Given the description of an element on the screen output the (x, y) to click on. 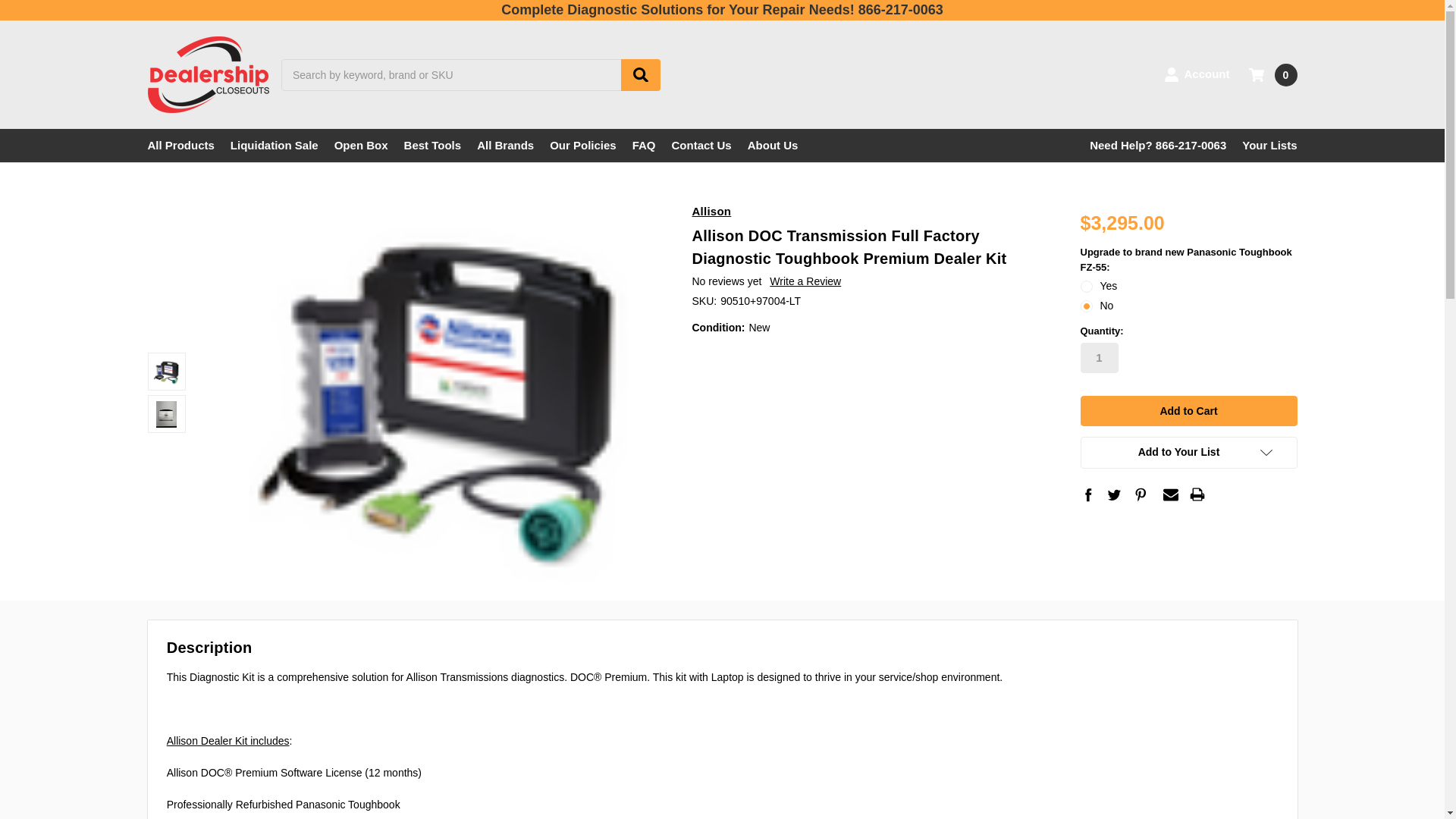
Panasonic Toughbook (165, 414)
Our Policies (582, 145)
Account (1196, 74)
Contact Us (701, 145)
All Products (180, 145)
Dealership Closeouts (207, 74)
Open Box (361, 145)
Add to Cart (1188, 410)
Best Tools (432, 145)
All Brands (505, 145)
